Given the description of an element on the screen output the (x, y) to click on. 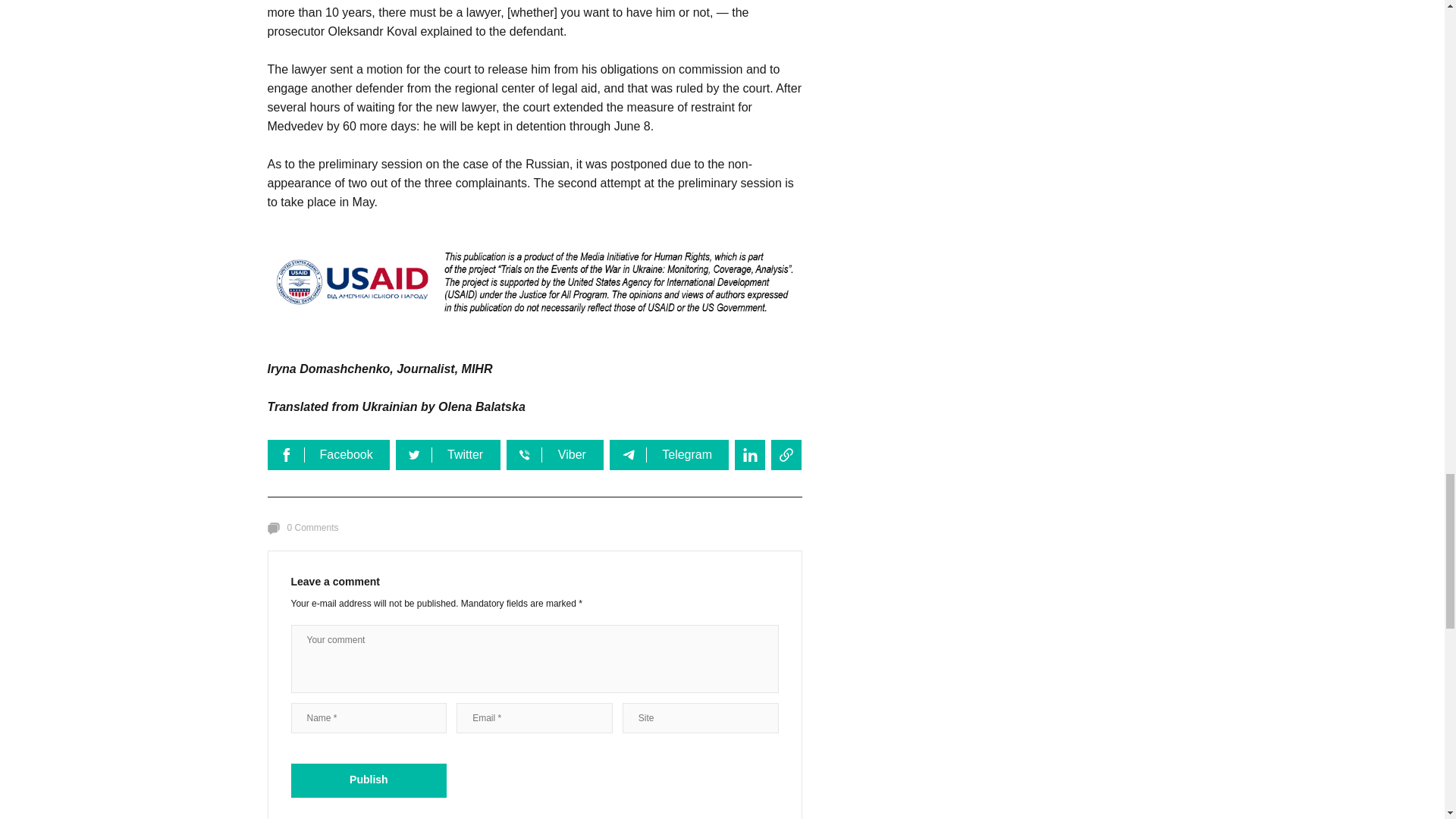
Publish (368, 780)
Publish (368, 780)
Facebook (327, 454)
Viber (555, 454)
Telegram (669, 454)
Twitter (448, 454)
